Given the description of an element on the screen output the (x, y) to click on. 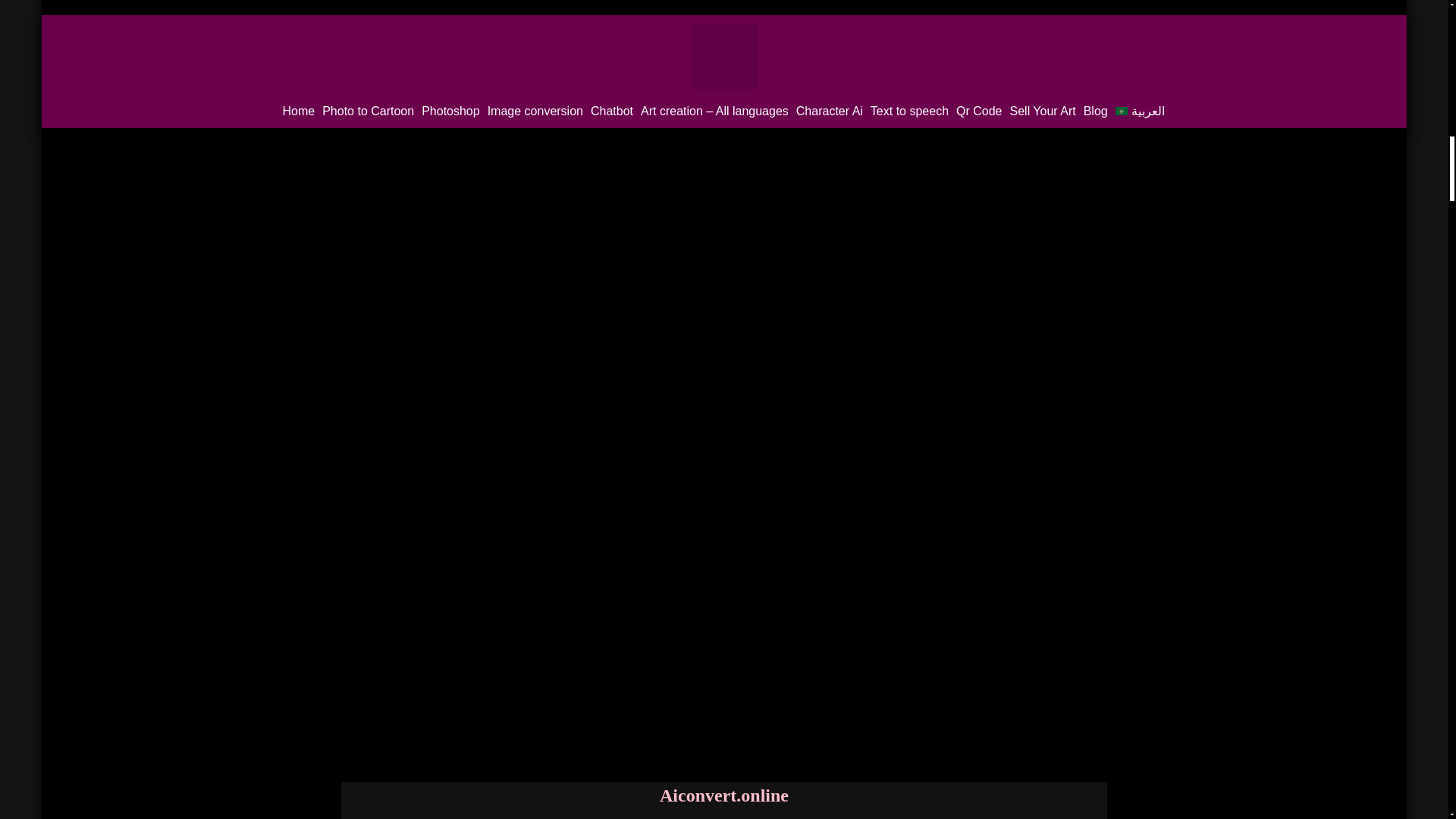
Convert Image to easy sketch drawings (724, 29)
